Given the description of an element on the screen output the (x, y) to click on. 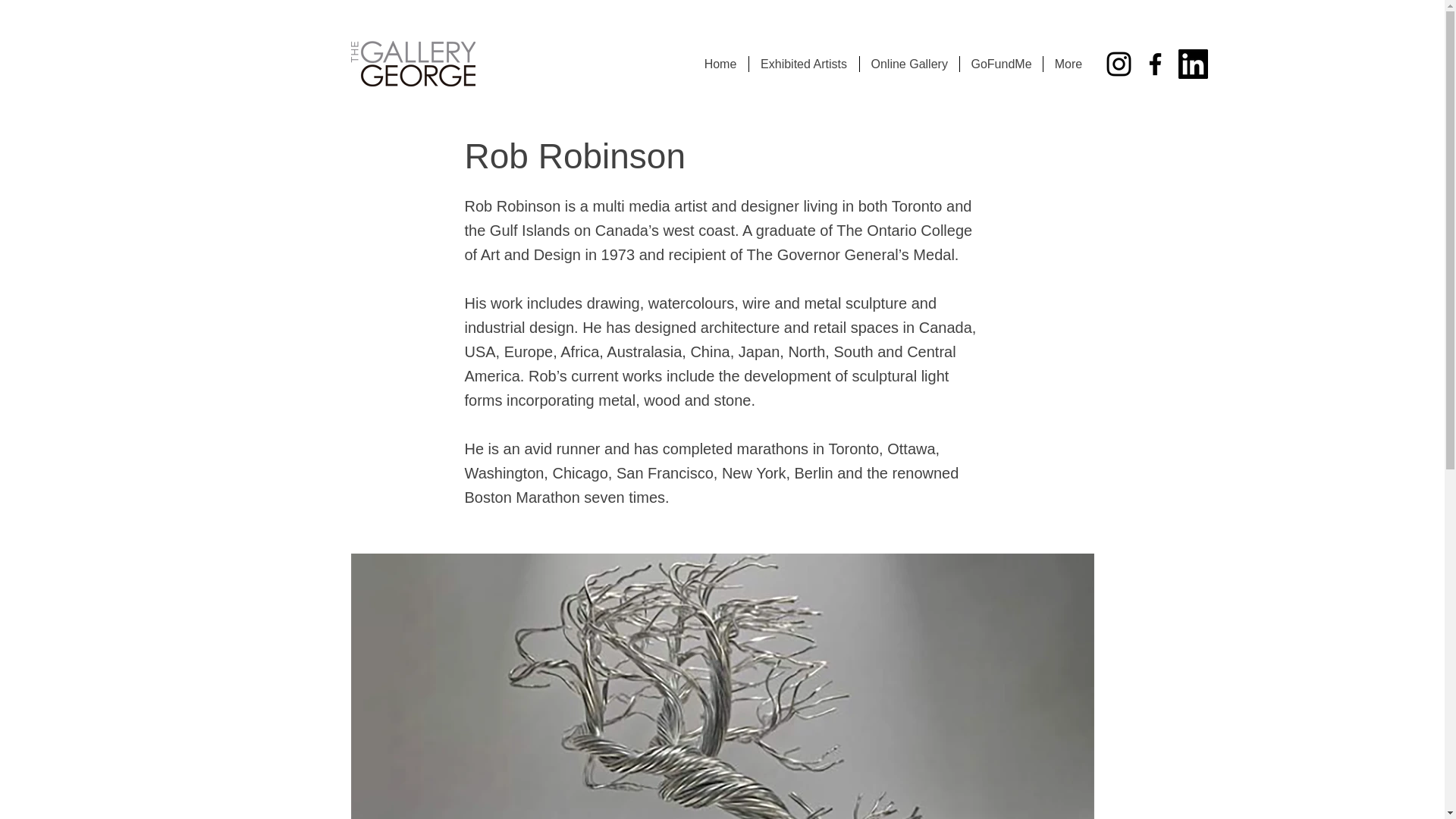
Exhibited Artists (803, 64)
GoFundMe (1000, 64)
Home (720, 64)
Online Gallery (908, 64)
